Given the description of an element on the screen output the (x, y) to click on. 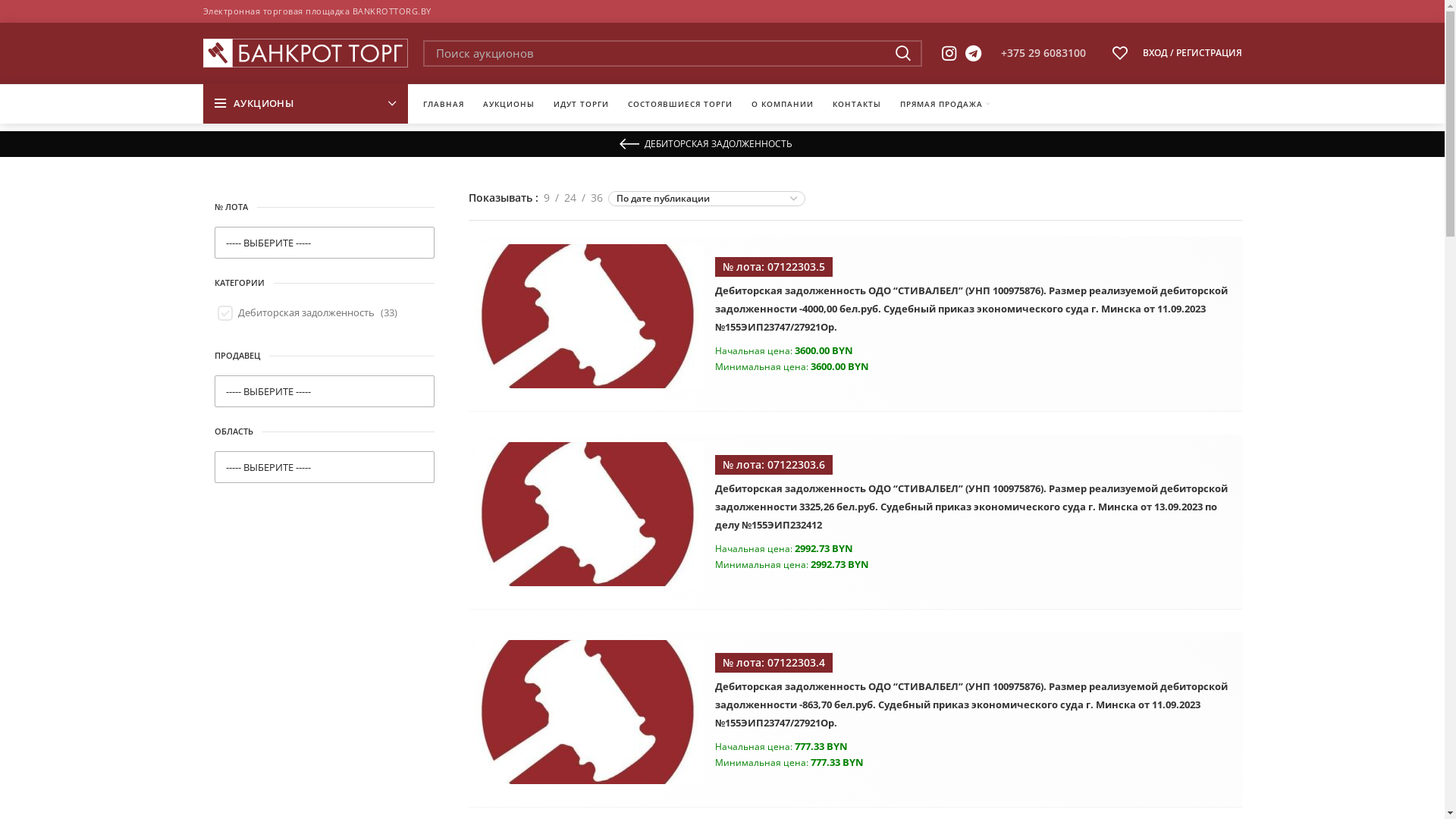
SEARCH Element type: text (901, 52)
9 Element type: text (546, 197)
24 Element type: text (569, 197)
36 Element type: text (596, 197)
CONTACT@BANKROTTORG.BY Element type: text (399, 689)
